Given the description of an element on the screen output the (x, y) to click on. 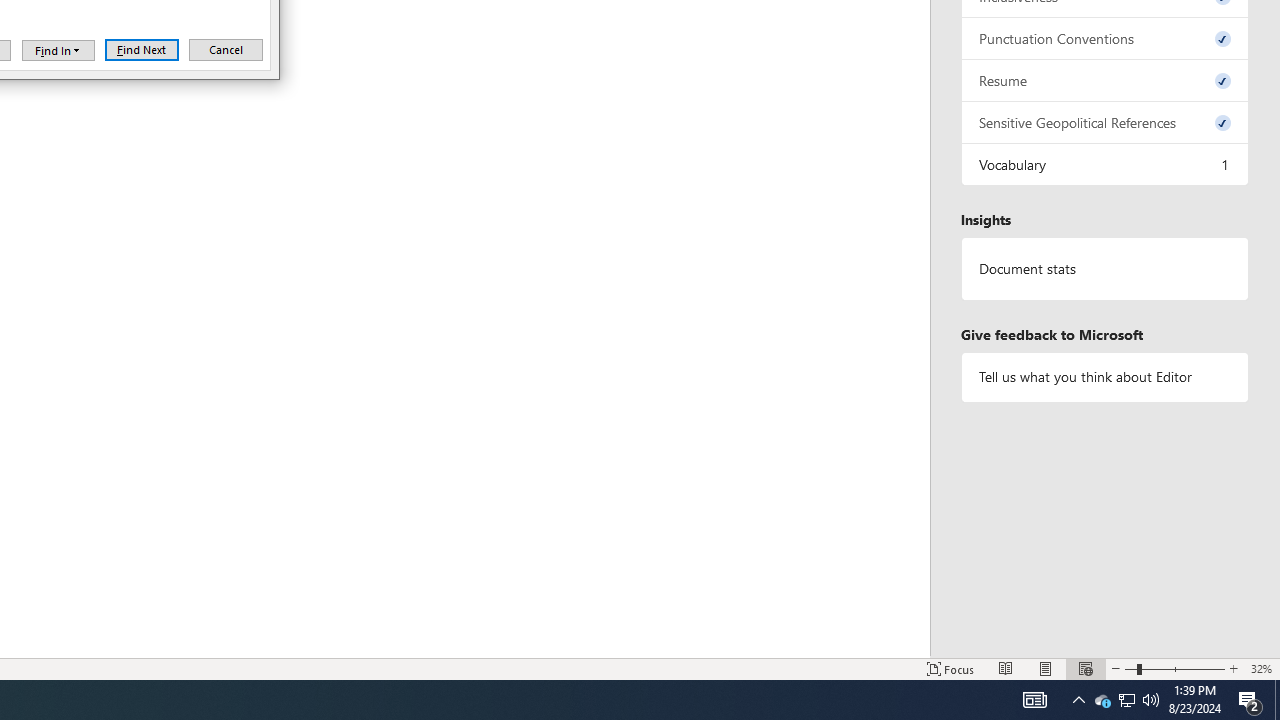
Find Next (1102, 699)
Cancel (141, 49)
Document statistics (225, 49)
Action Center, 2 new notifications (1105, 269)
Q2790: 100% (1250, 699)
AutomationID: 4105 (1151, 699)
Show desktop (1034, 699)
Find In (1277, 699)
